Given the description of an element on the screen output the (x, y) to click on. 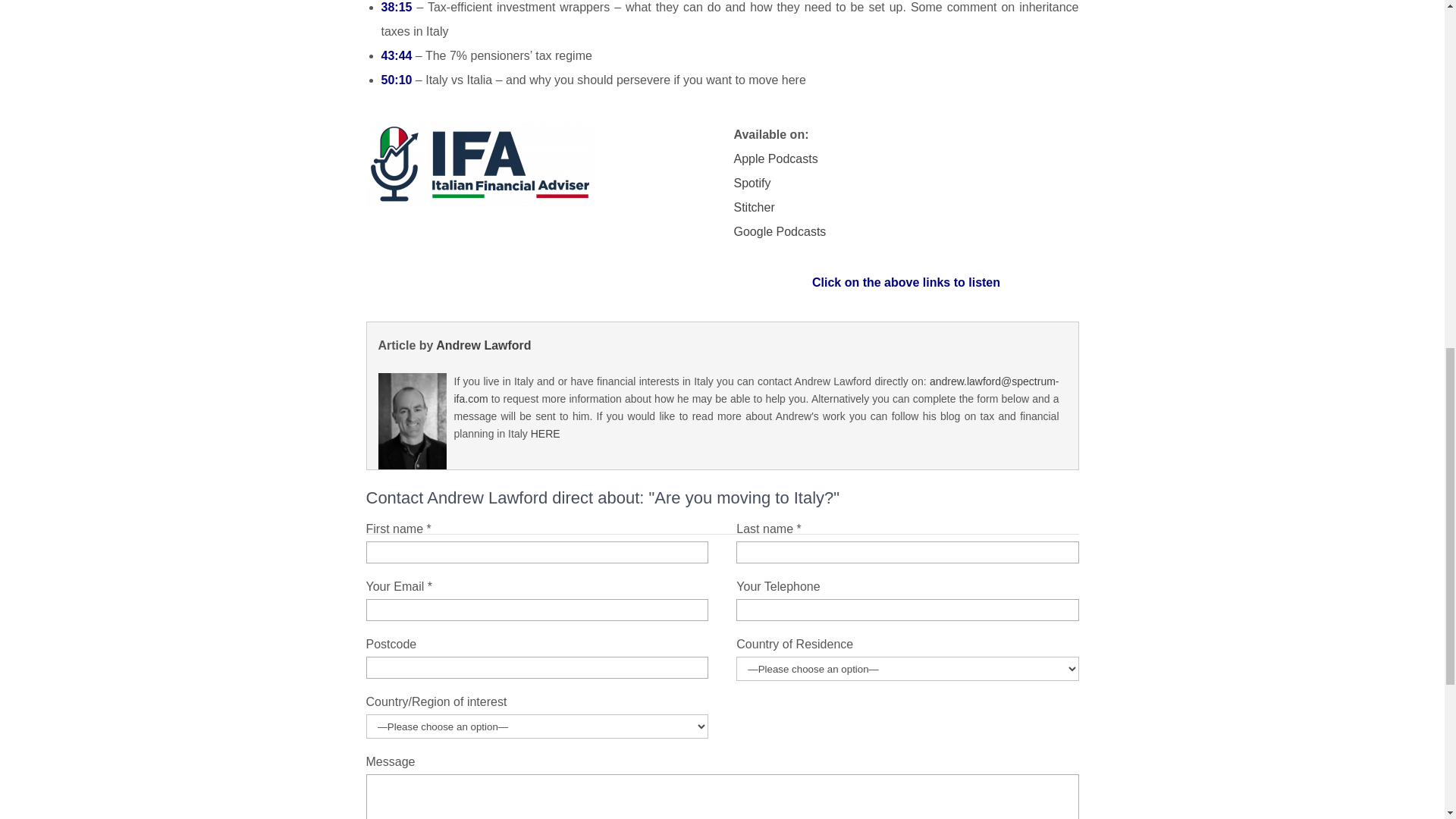
Andrew Lawford (483, 345)
Apple Podcasts (775, 158)
Stitcher (753, 206)
Spotify (752, 182)
Google Podcasts (780, 231)
italian financial adviser (478, 165)
HERE (545, 433)
